Given the description of an element on the screen output the (x, y) to click on. 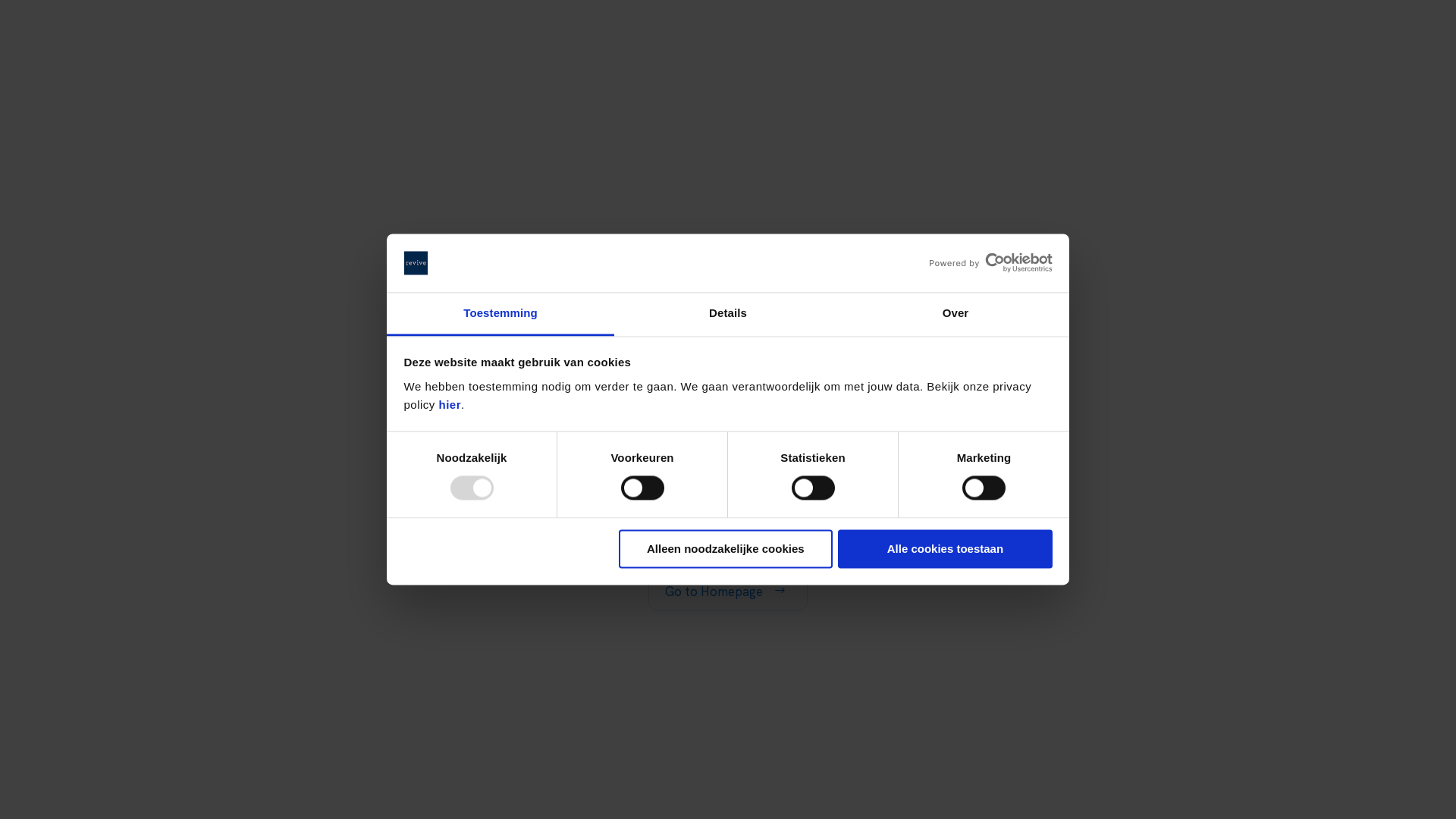
Go to Homepage Element type: text (727, 590)
Alle cookies toestaan Element type: text (944, 548)
Details Element type: text (727, 313)
Toestemming Element type: text (500, 313)
Alleen noodzakelijke cookies Element type: text (725, 548)
hier Element type: text (450, 404)
Over Element type: text (955, 313)
